Given the description of an element on the screen output the (x, y) to click on. 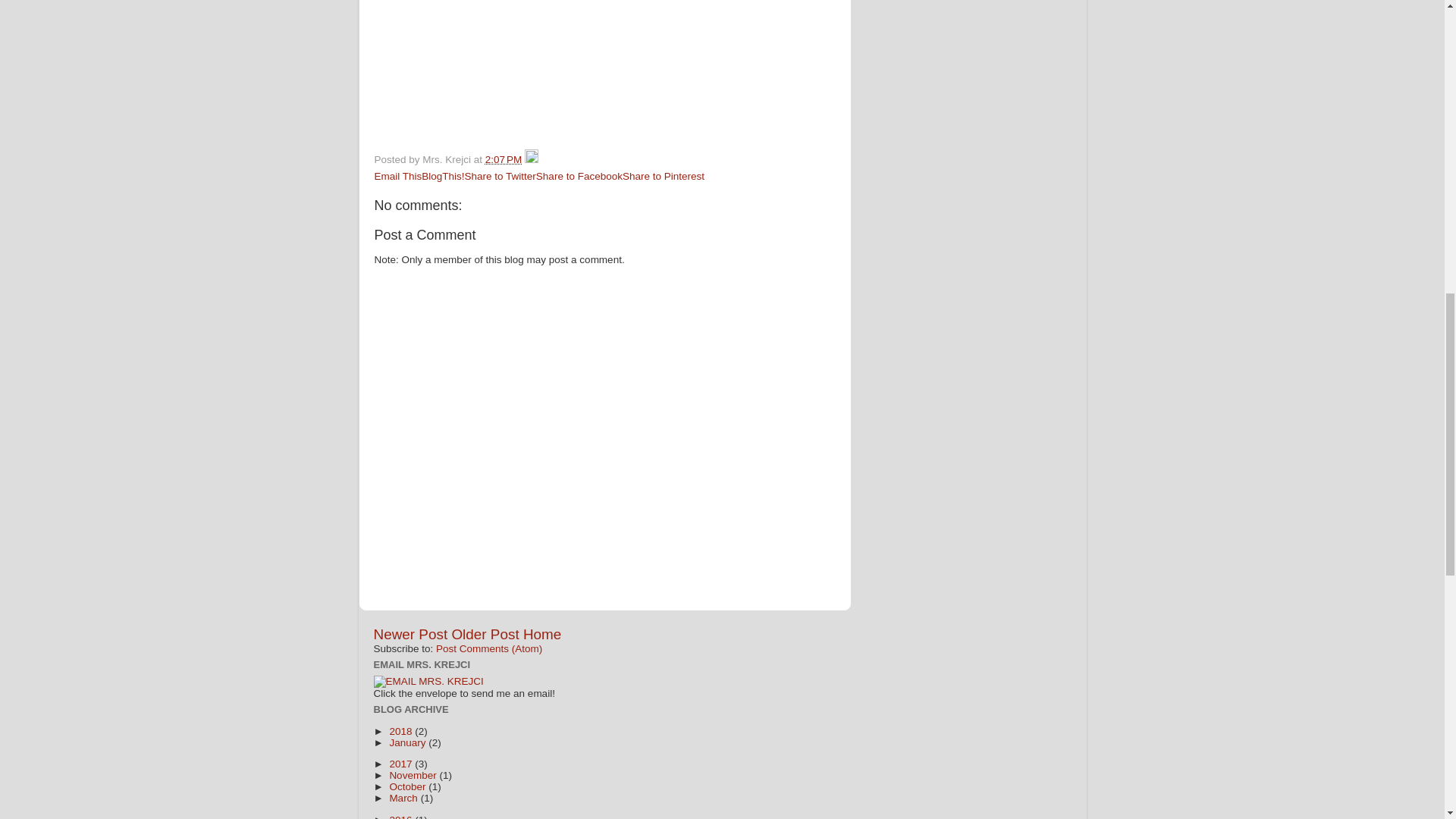
October (408, 786)
2017 (401, 763)
Older Post (484, 634)
BlogThis! (443, 175)
Home (541, 634)
BlogThis! (443, 175)
March (404, 797)
November (413, 775)
Newer Post (409, 634)
Share to Pinterest (663, 175)
2018 (401, 731)
Share to Facebook (579, 175)
2016 (401, 816)
permanent link (502, 159)
Edit Post (531, 159)
